Given the description of an element on the screen output the (x, y) to click on. 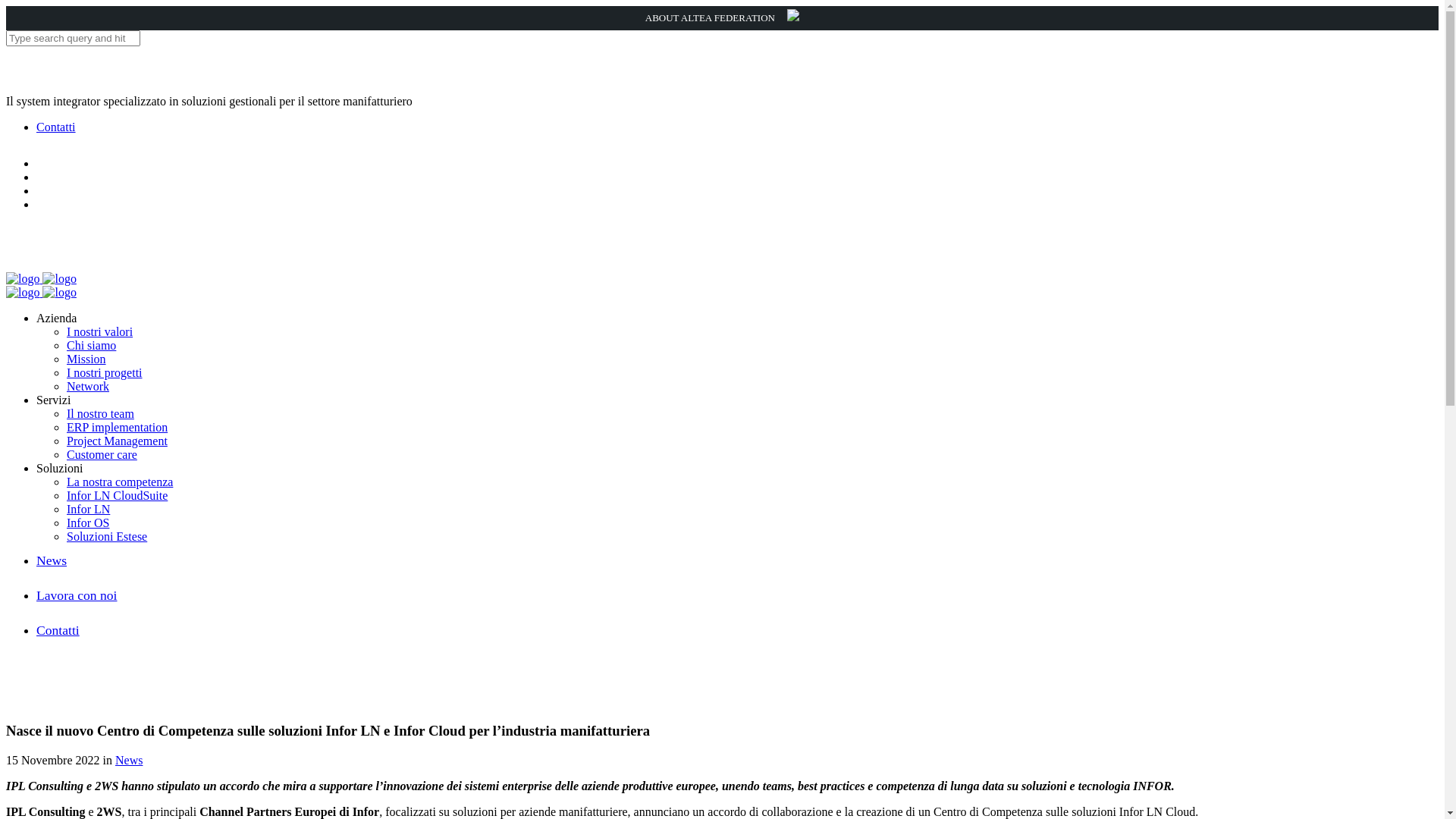
Chi siamo Element type: text (91, 344)
News Element type: text (51, 559)
News Element type: text (128, 759)
Soluzioni Estese Element type: text (106, 536)
Mission Element type: text (86, 358)
Project Management Element type: text (116, 440)
Contatti Element type: text (55, 126)
ENG Element type: text (52, 145)
I nostri progetti Element type: text (104, 372)
La nostra competenza Element type: text (119, 481)
I nostri valori Element type: text (99, 331)
ABOUT ALTEA FEDERATION Element type: text (722, 17)
Il nostro team Element type: text (100, 413)
Infor LN Element type: text (87, 508)
Contatti Element type: text (57, 629)
Customer care Element type: text (101, 454)
ERP implementation Element type: text (116, 426)
Infor LN CloudSuite Element type: text (116, 495)
Network Element type: text (87, 385)
Lavora con noi Element type: text (76, 594)
Infor OS Element type: text (87, 522)
